Given the description of an element on the screen output the (x, y) to click on. 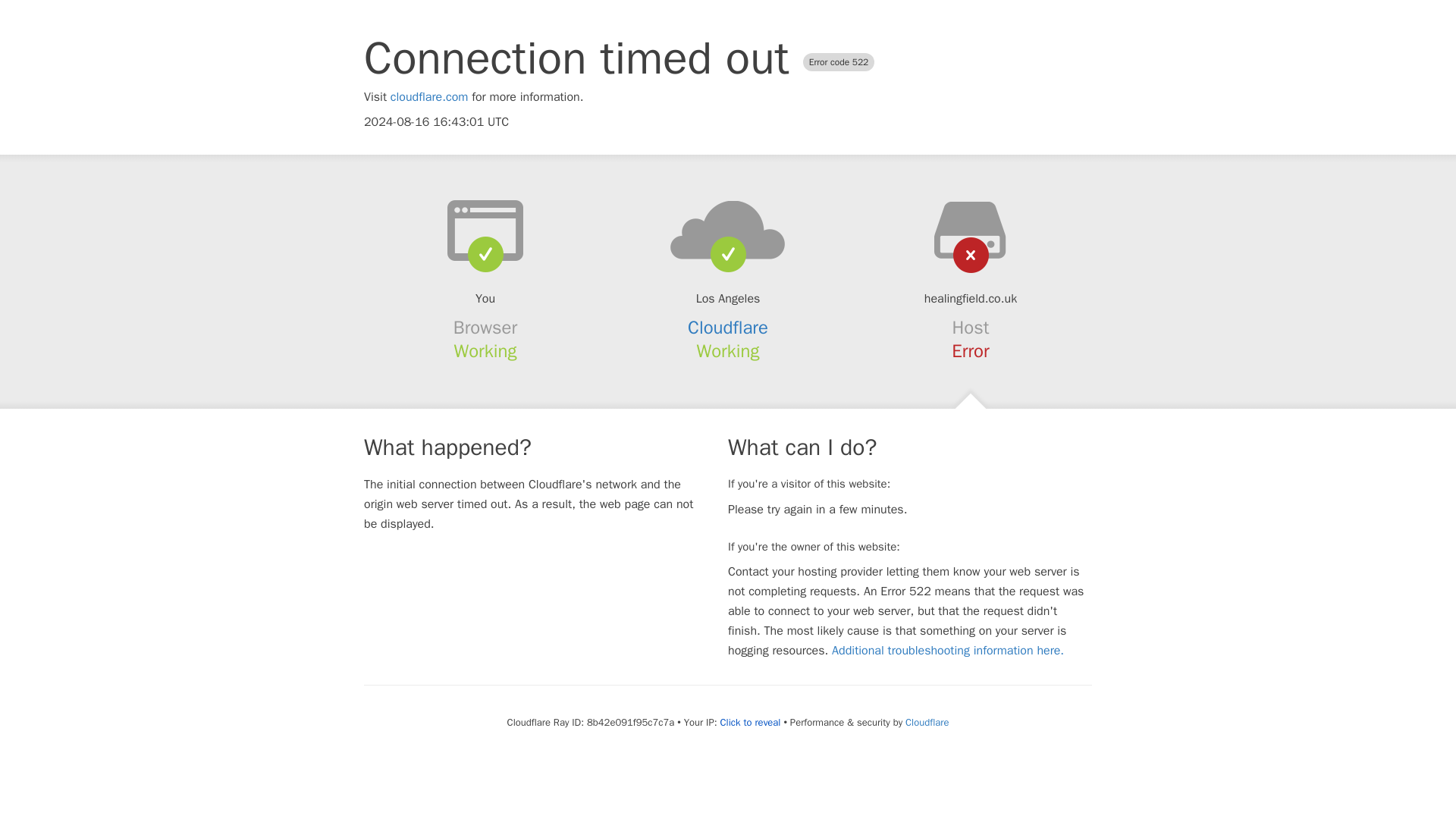
Additional troubleshooting information here. (947, 650)
Cloudflare (727, 327)
Click to reveal (750, 722)
cloudflare.com (429, 96)
Cloudflare (927, 721)
